Given the description of an element on the screen output the (x, y) to click on. 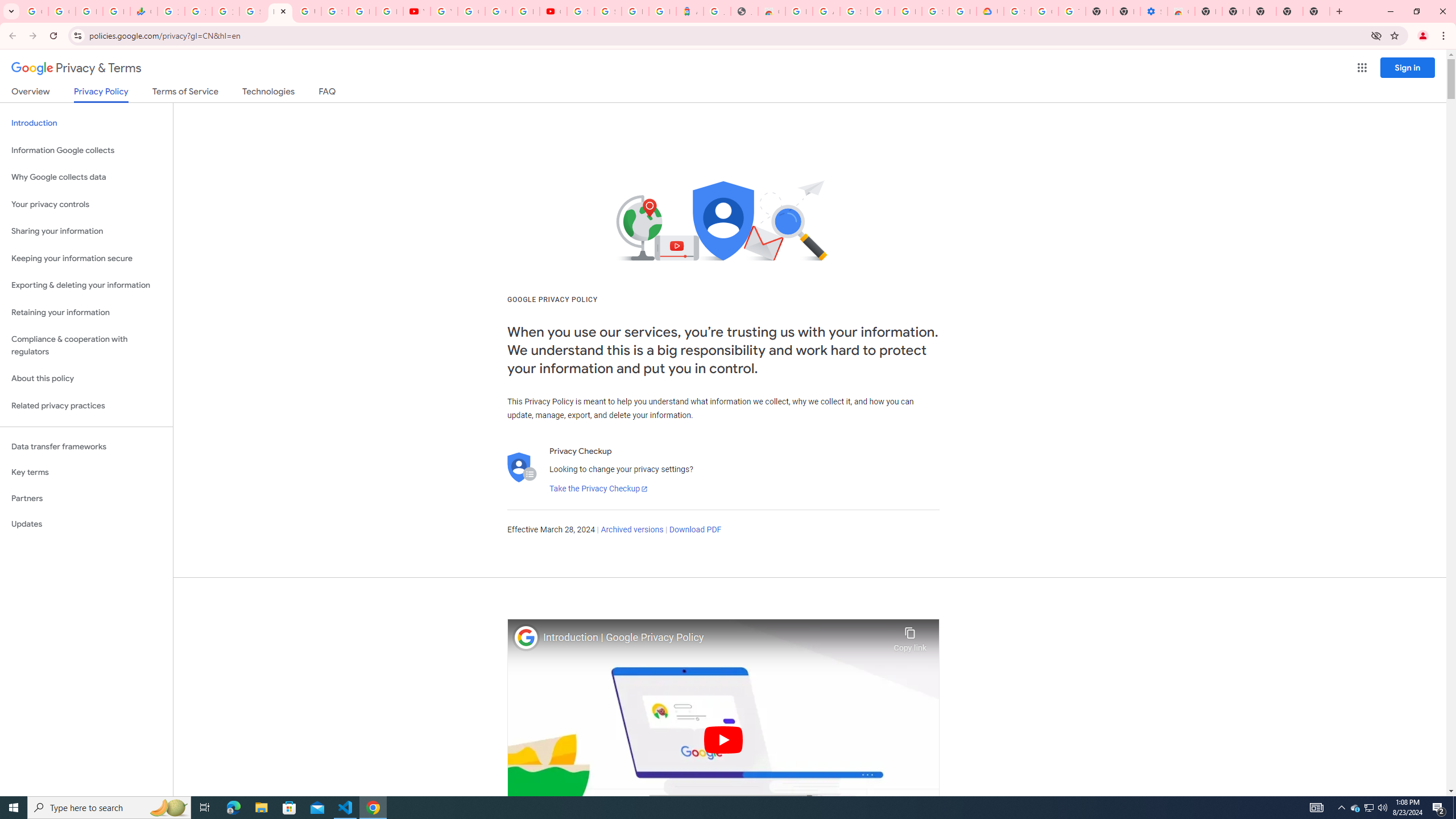
Privacy Checkup (389, 11)
Sign in - Google Accounts (1017, 11)
Chrome Web Store - Accessibility extensions (1180, 11)
Introduction | Google Privacy Policy (715, 637)
Settings - Accessibility (1153, 11)
Related privacy practices (86, 405)
